Given the description of an element on the screen output the (x, y) to click on. 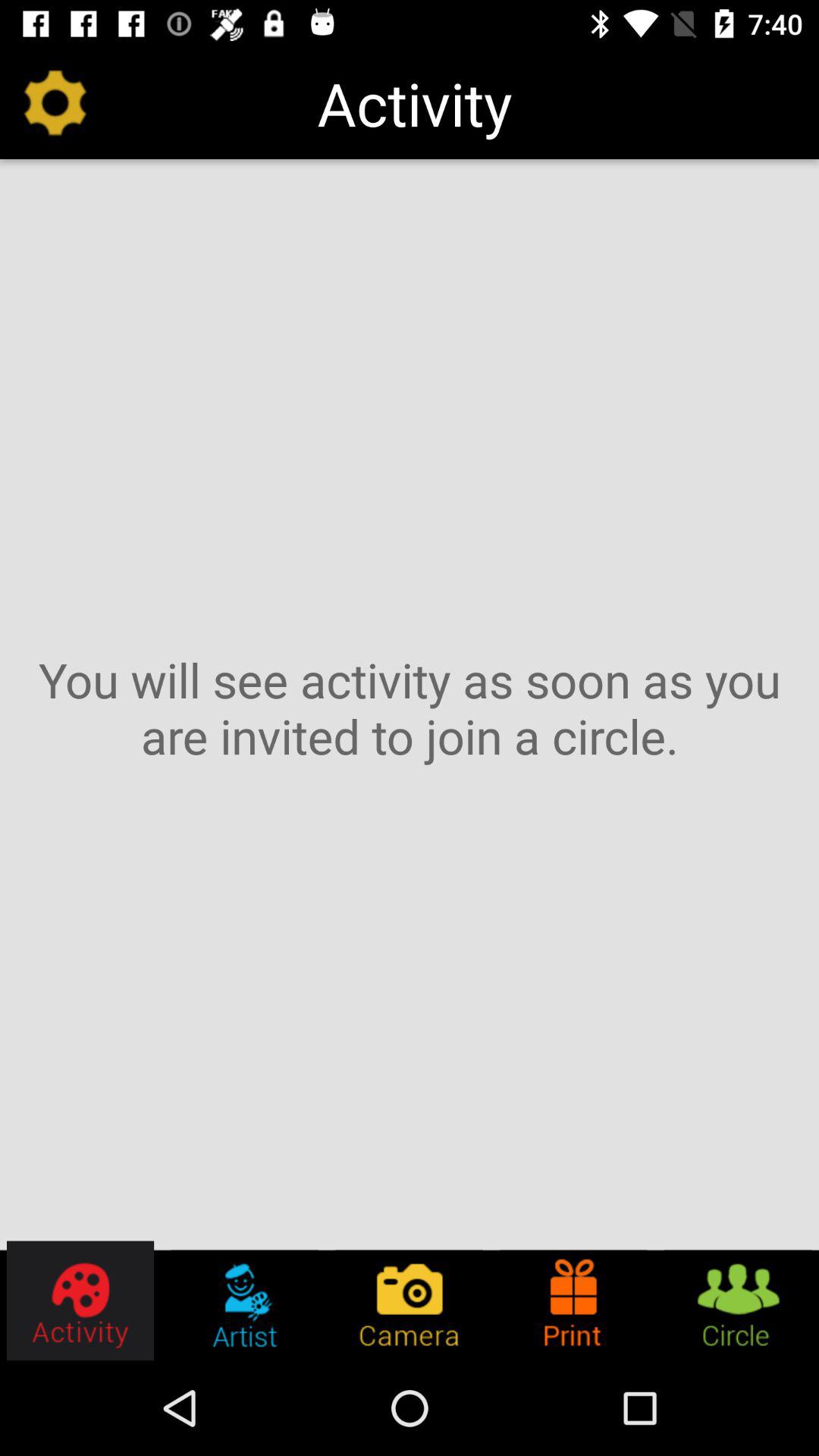
choose the item next to activity item (55, 103)
